Given the description of an element on the screen output the (x, y) to click on. 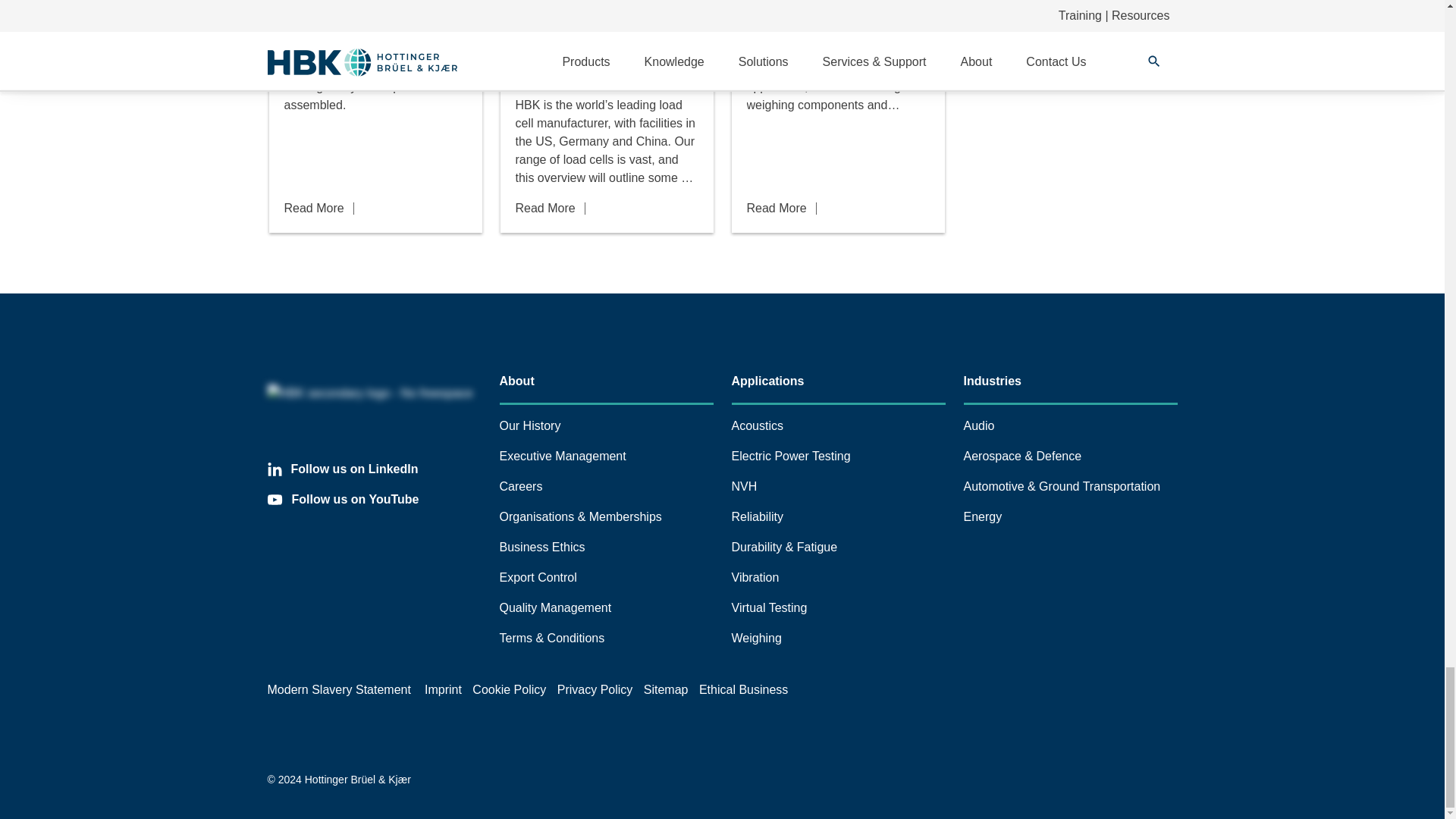
HBK secondary logo - No freespace (373, 393)
